Given the description of an element on the screen output the (x, y) to click on. 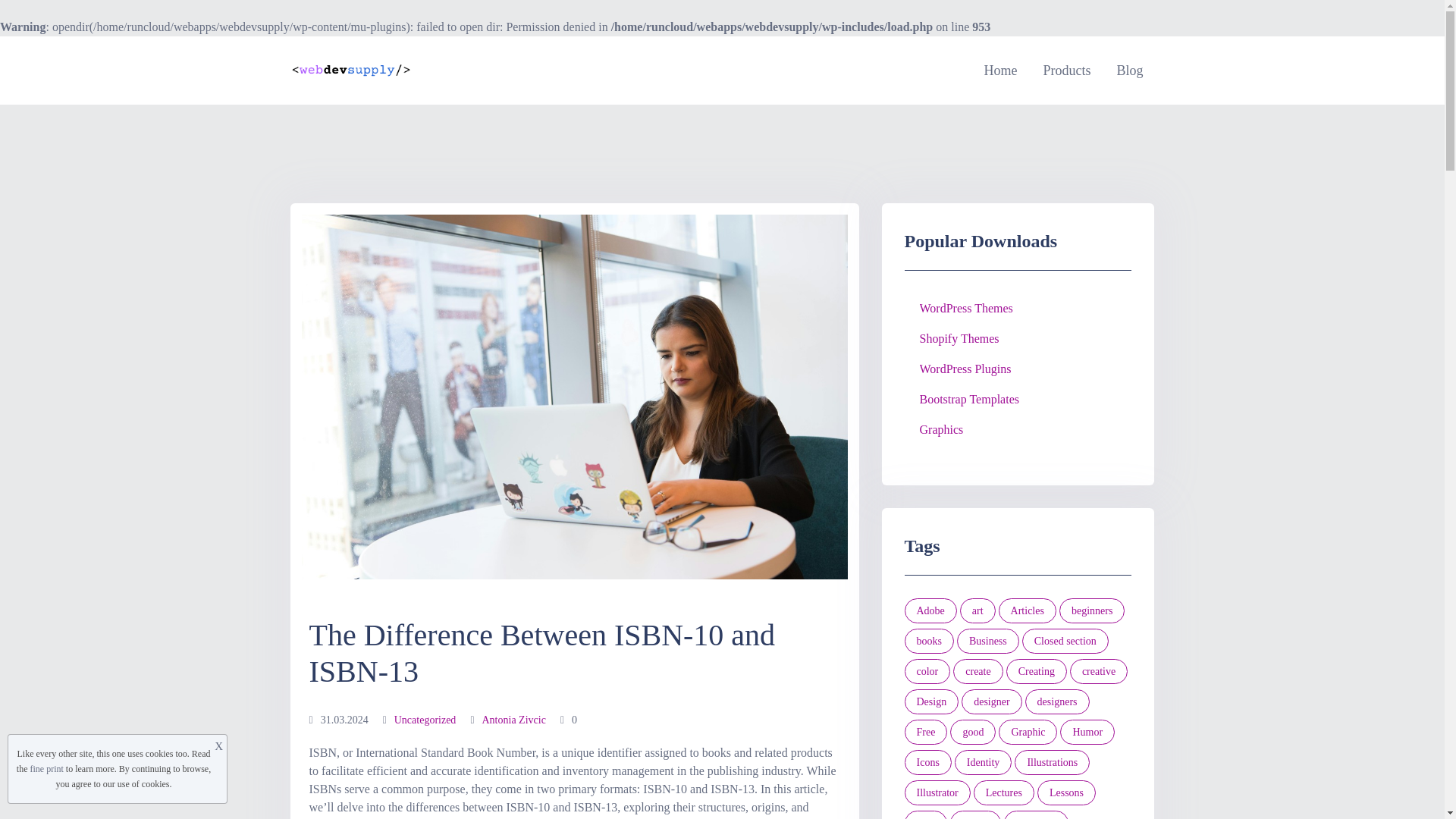
Blog (1129, 69)
Products (1066, 69)
Home (1000, 69)
